Given the description of an element on the screen output the (x, y) to click on. 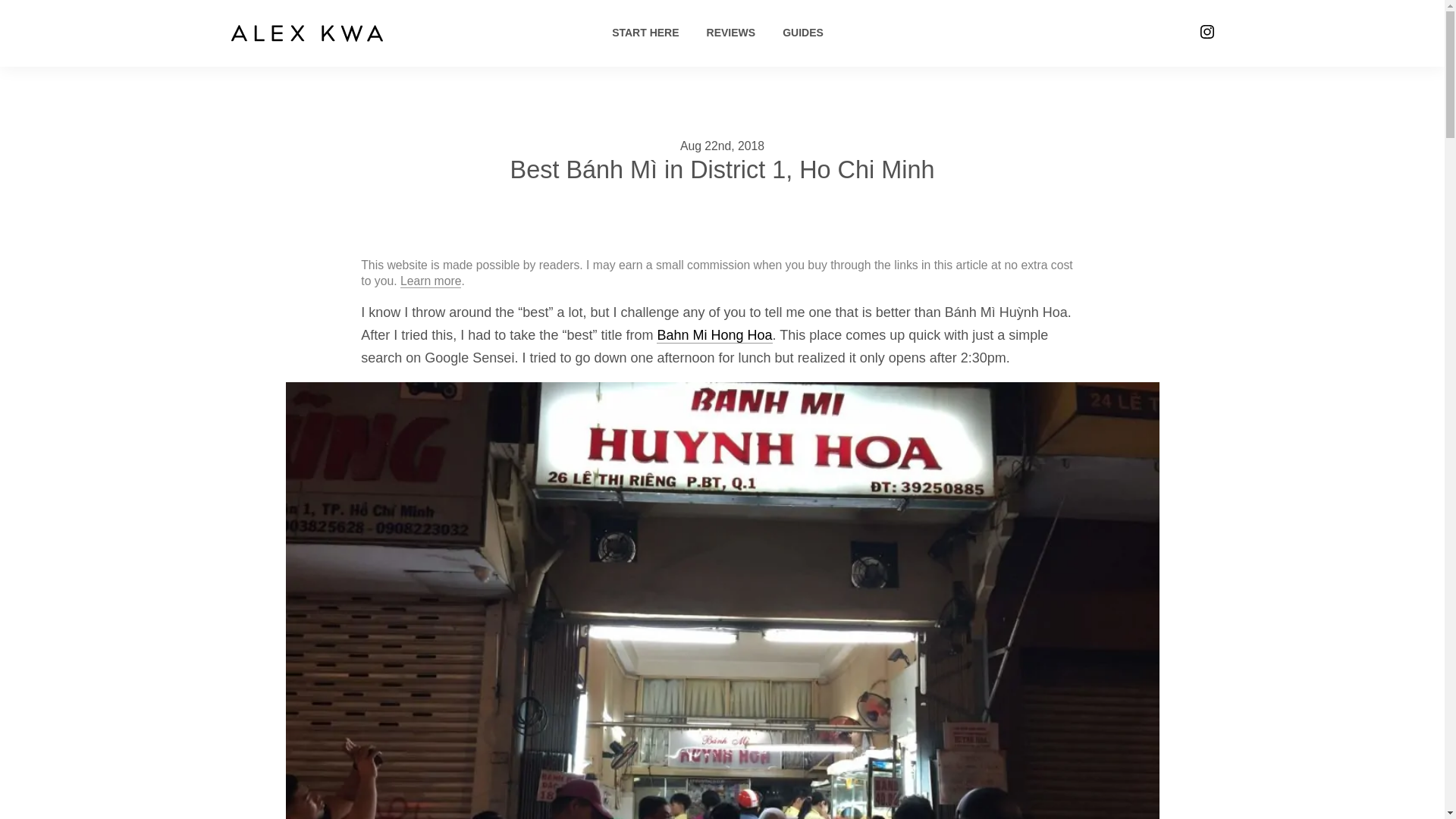
Learn more (430, 281)
GUIDES (803, 32)
REVIEWS (730, 32)
Bahn Mi Hong Hoa (713, 335)
START HERE (644, 32)
